Given the description of an element on the screen output the (x, y) to click on. 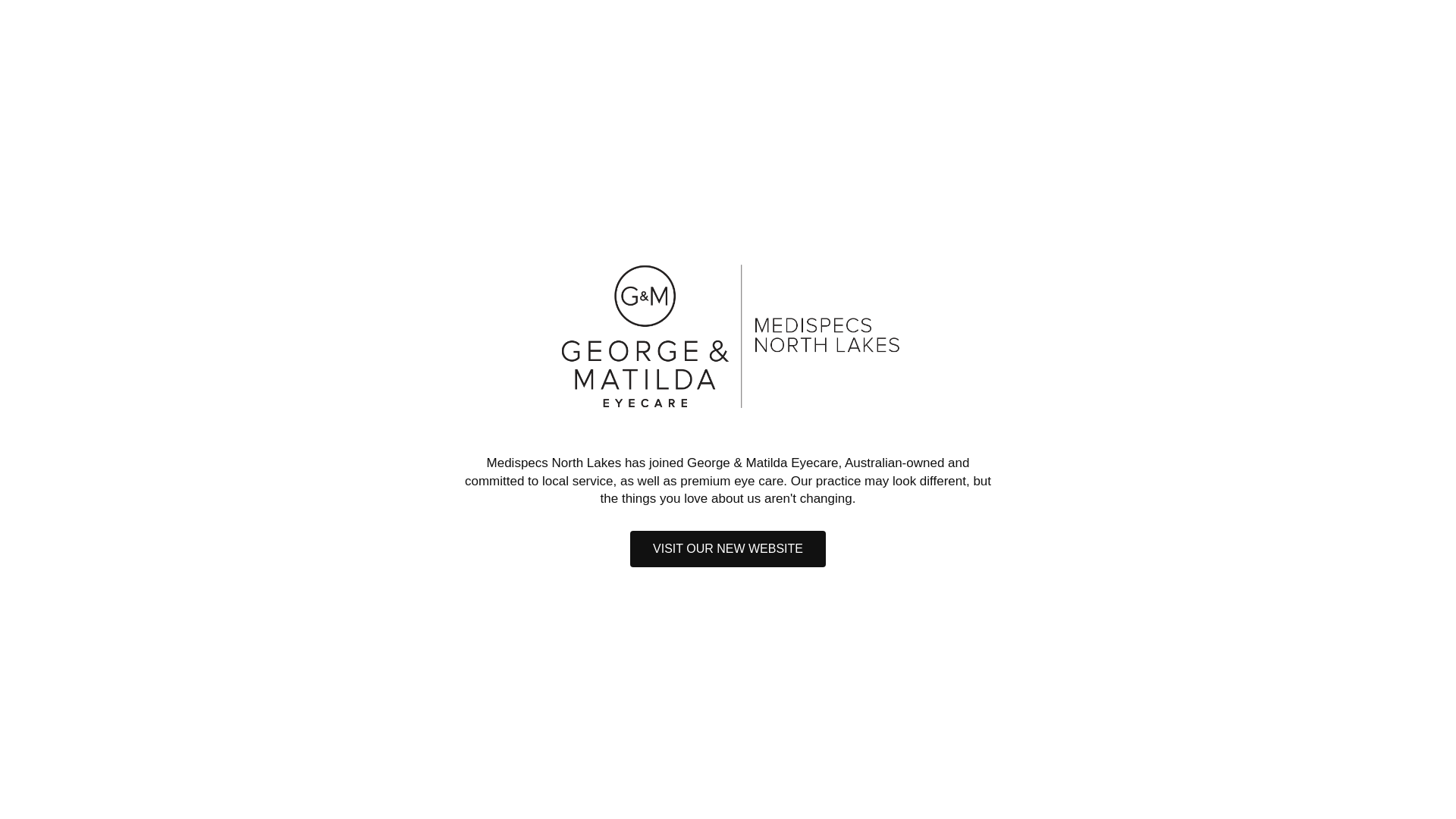
VISIT OUR NEW WEBSITE Element type: text (727, 548)
